Given the description of an element on the screen output the (x, y) to click on. 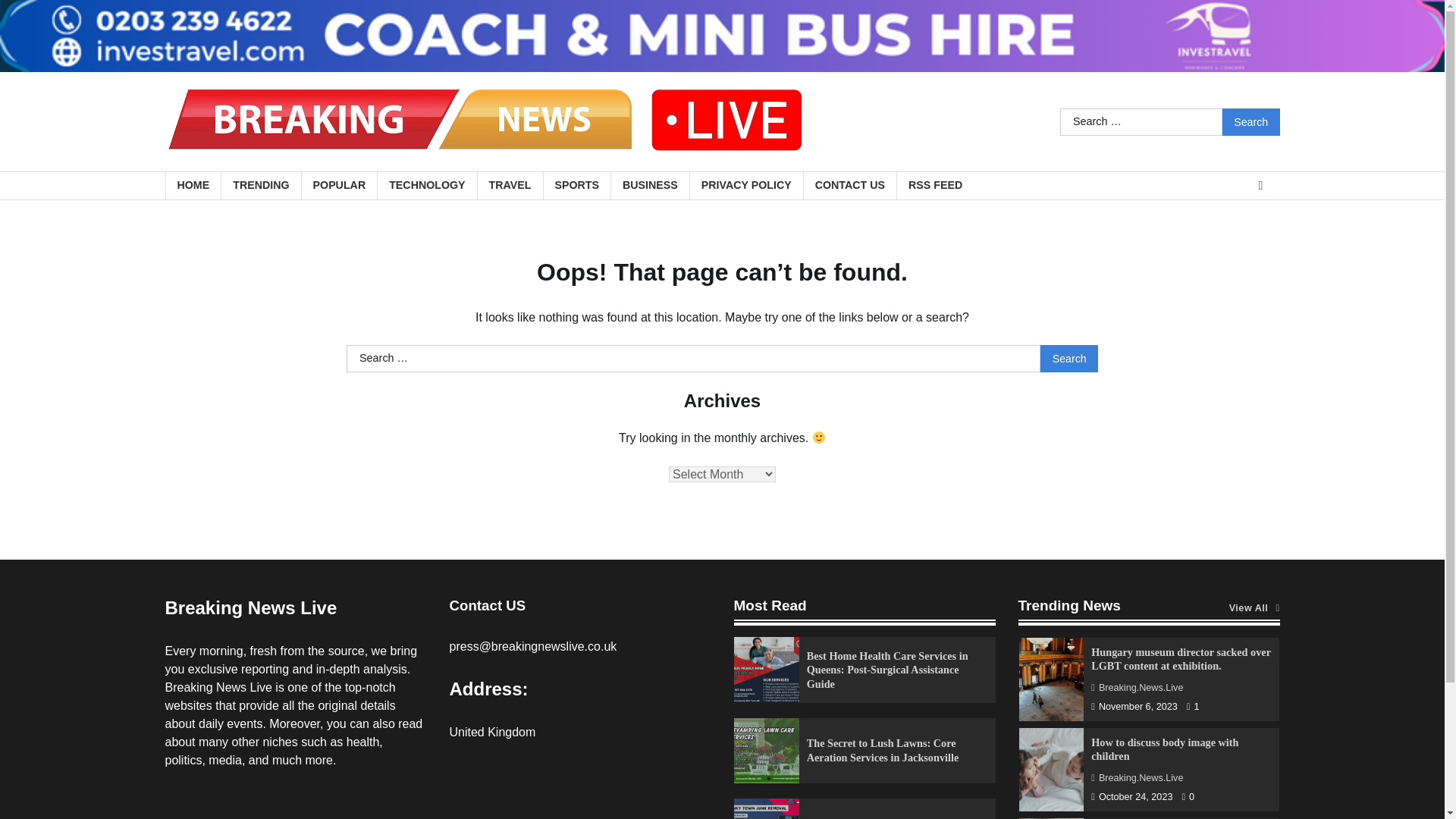
TRAVEL (510, 185)
RSS FEED (935, 185)
TECHNOLOGY (426, 185)
View All (1253, 608)
Search (1251, 121)
HOME (193, 185)
Search (1251, 121)
View Random Post (1260, 185)
POPULAR (339, 185)
PRIVACY POLICY (745, 185)
BUSINESS (649, 185)
Search (1069, 358)
Search (1069, 358)
